Given the description of an element on the screen output the (x, y) to click on. 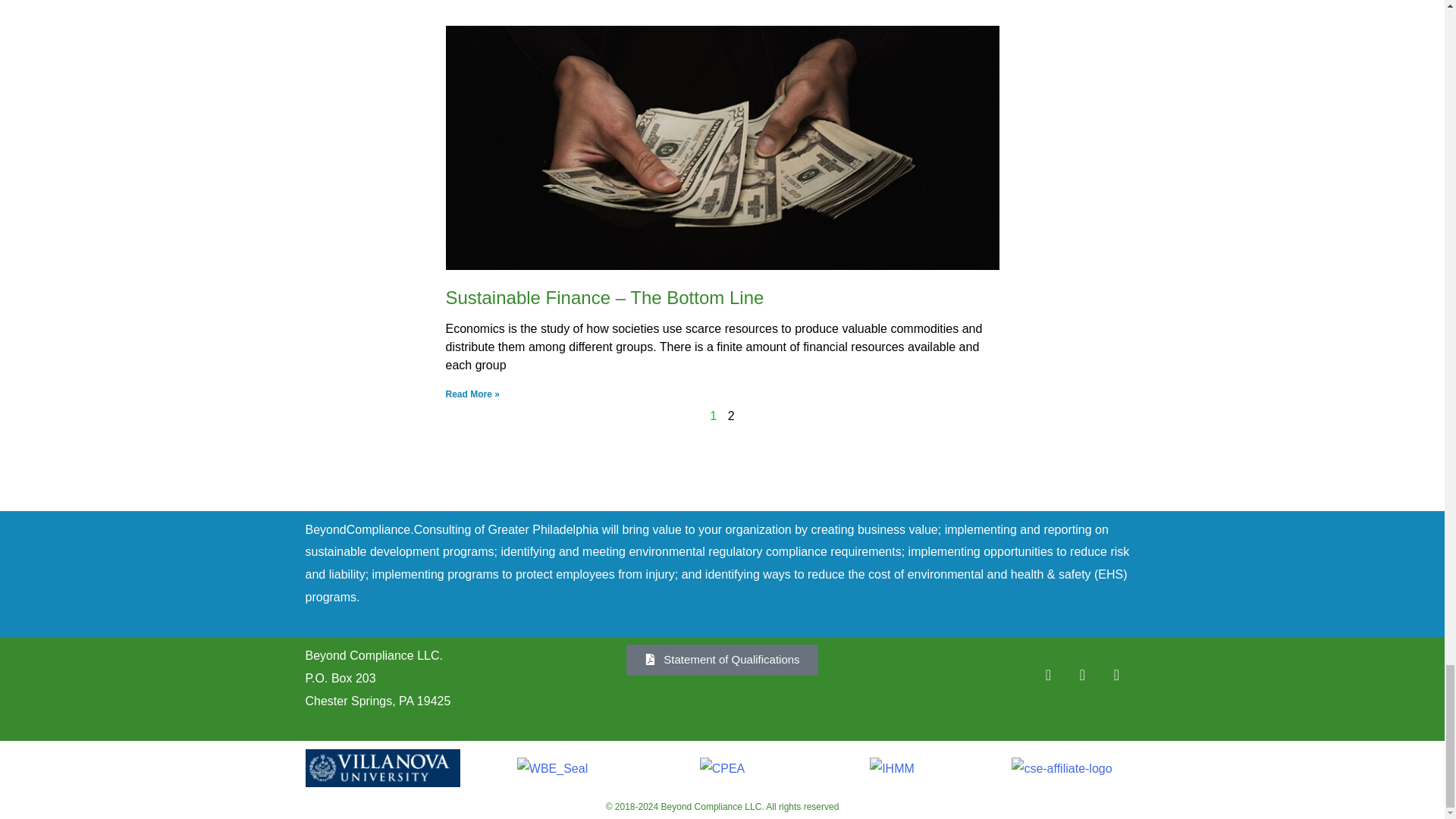
IHMM (891, 768)
cse-affiliate-logo (1061, 768)
CPEA (722, 768)
